Given the description of an element on the screen output the (x, y) to click on. 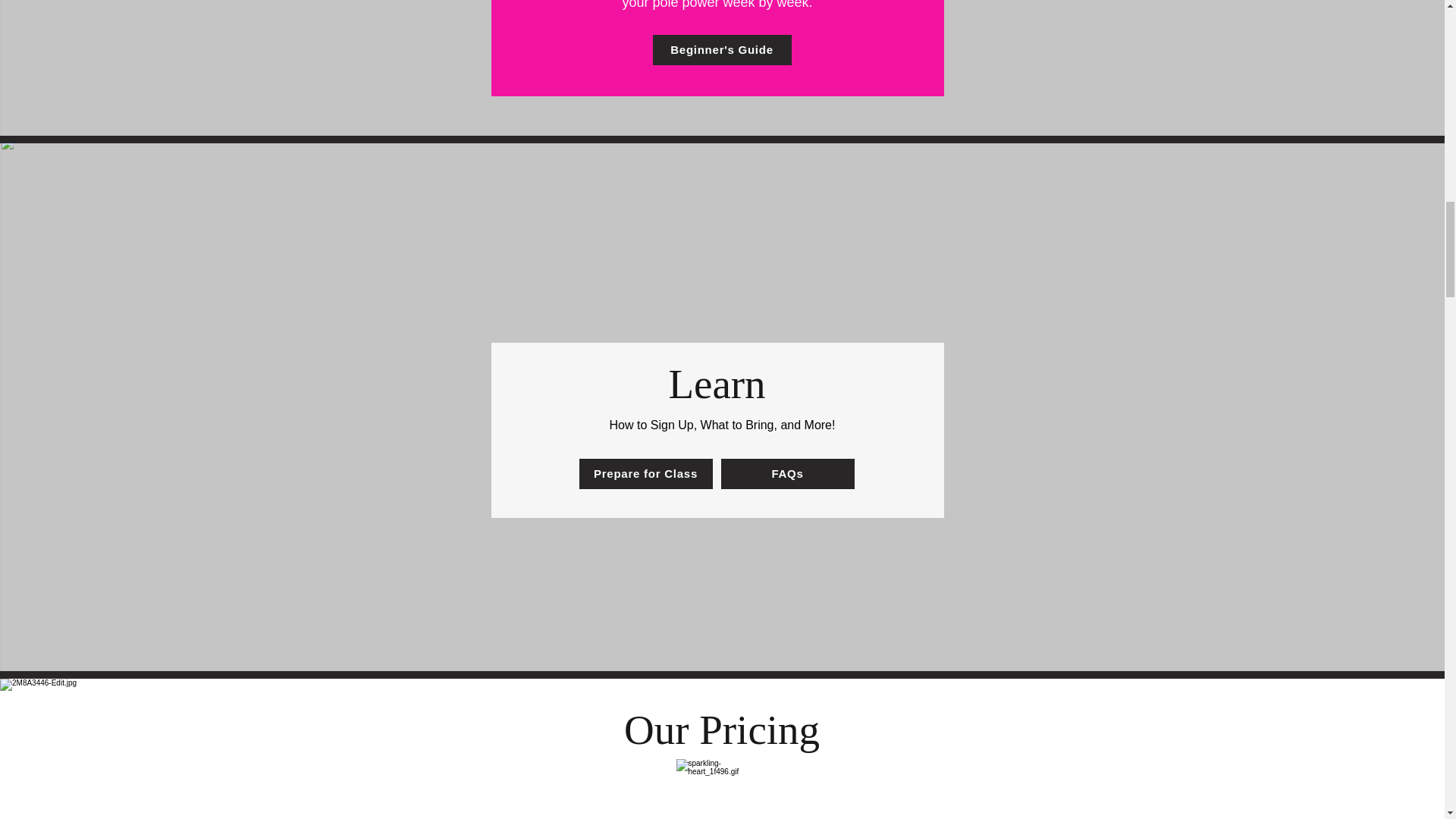
Beginner's Guide (721, 50)
FAQs (786, 472)
Prepare for Class (646, 472)
